Given the description of an element on the screen output the (x, y) to click on. 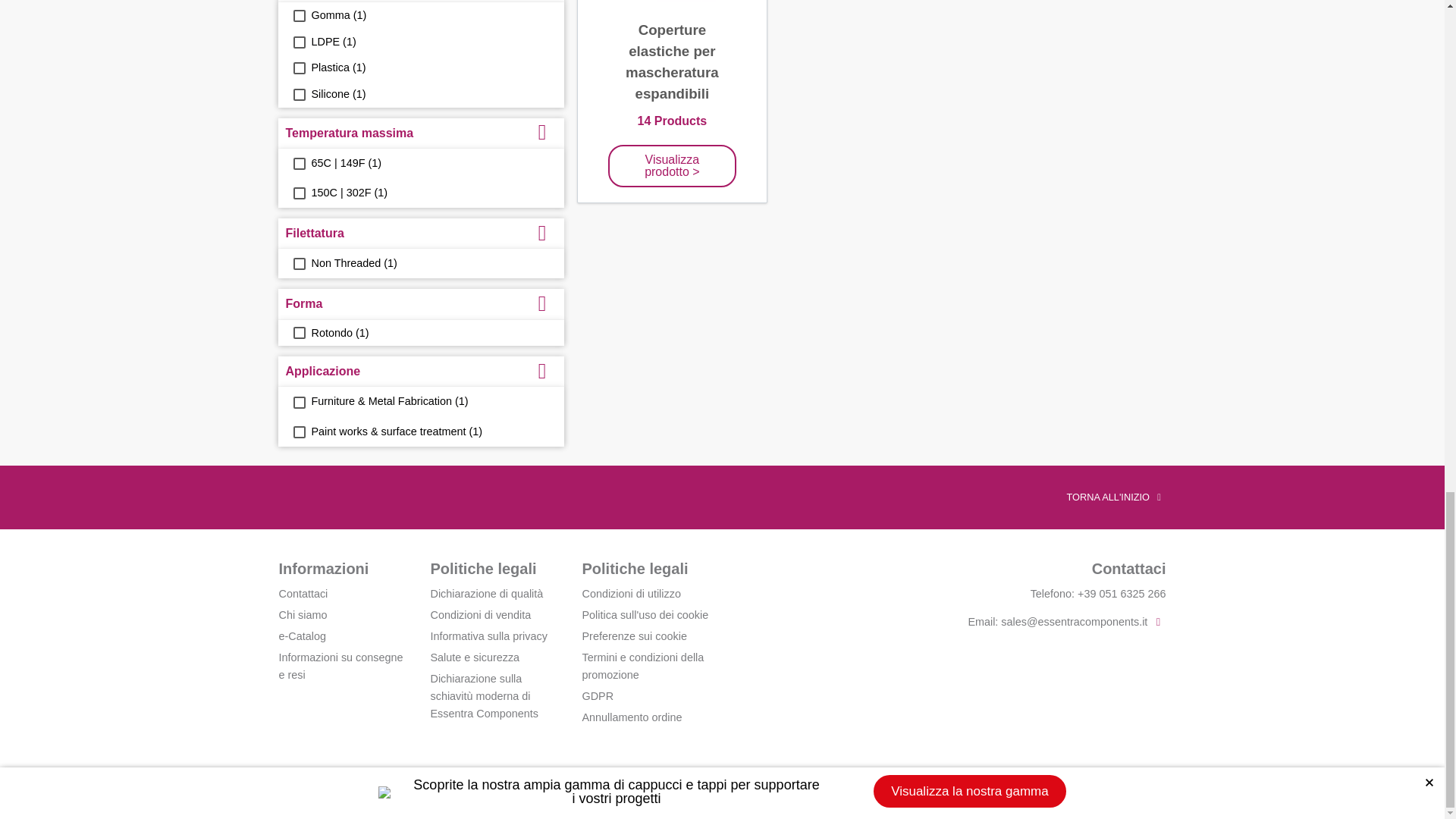
LDPE (298, 42)
Non Threaded (298, 263)
Silicone (298, 94)
Plastica (298, 68)
Rotondo (298, 332)
Gomma (298, 15)
